Given the description of an element on the screen output the (x, y) to click on. 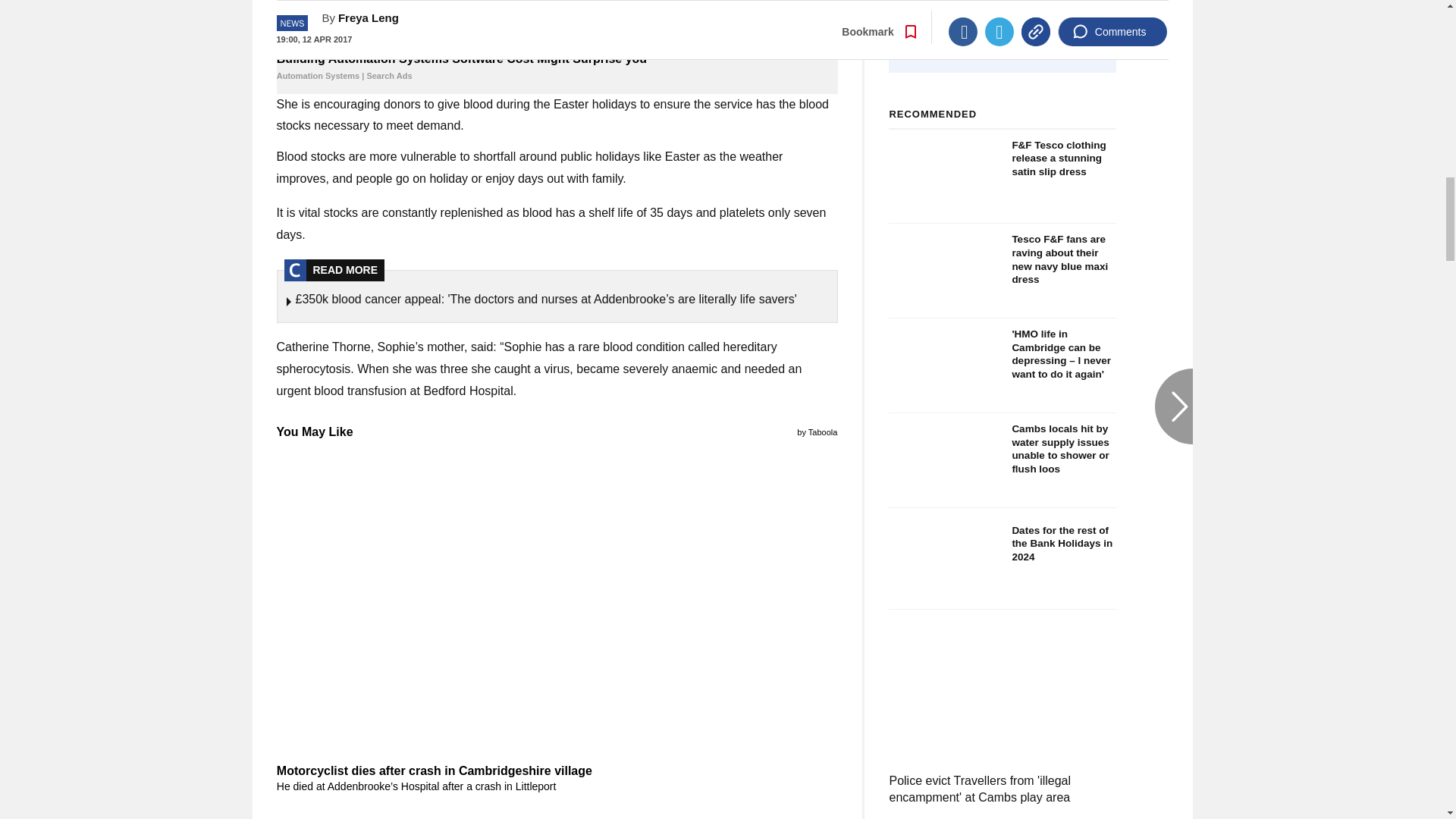
Building Automation Systems Software Cost Might Surprise you (557, 23)
Building Automation Systems Software Cost Might Surprise you (557, 67)
